Given the description of an element on the screen output the (x, y) to click on. 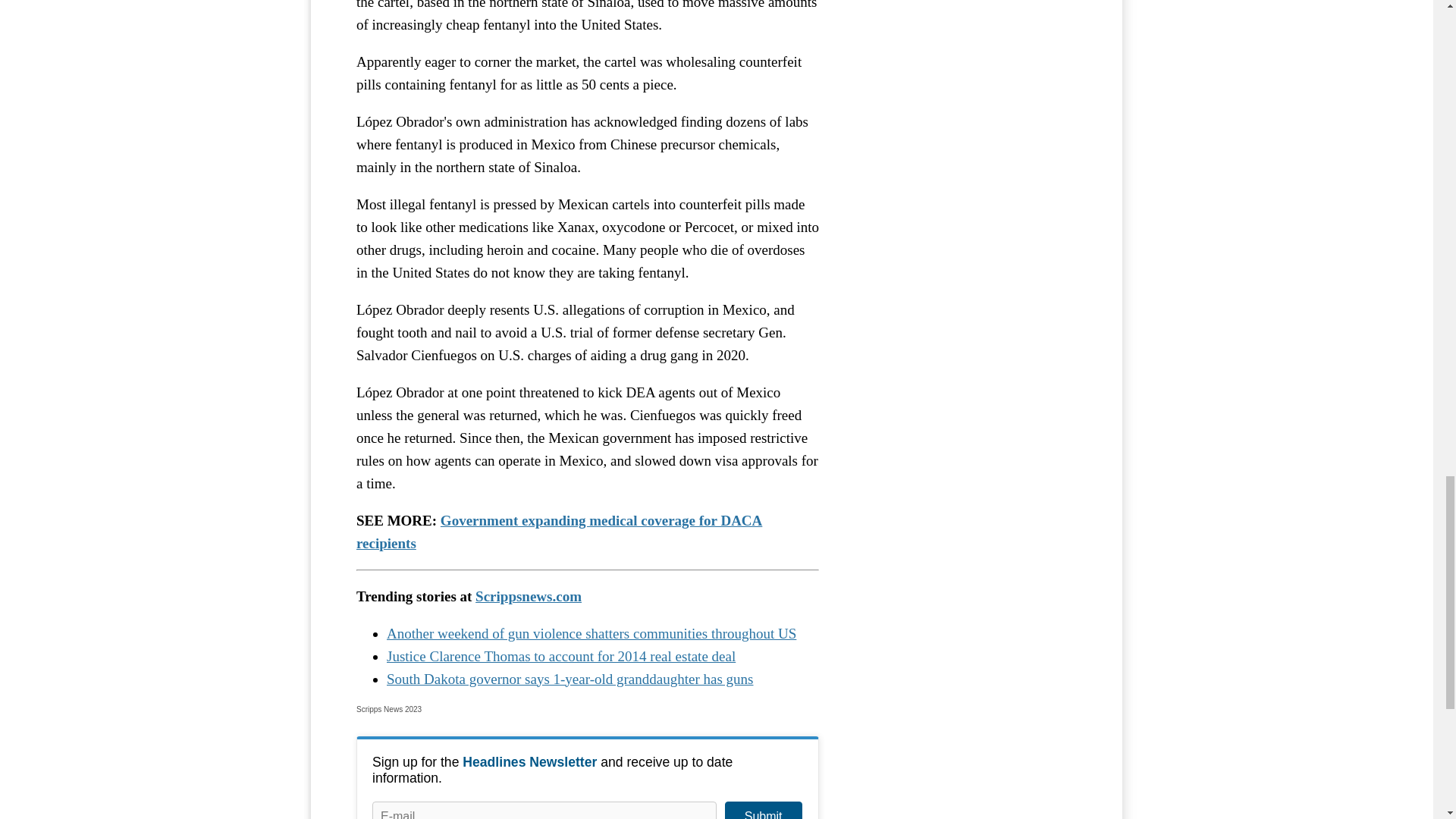
Submit (763, 810)
